Given the description of an element on the screen output the (x, y) to click on. 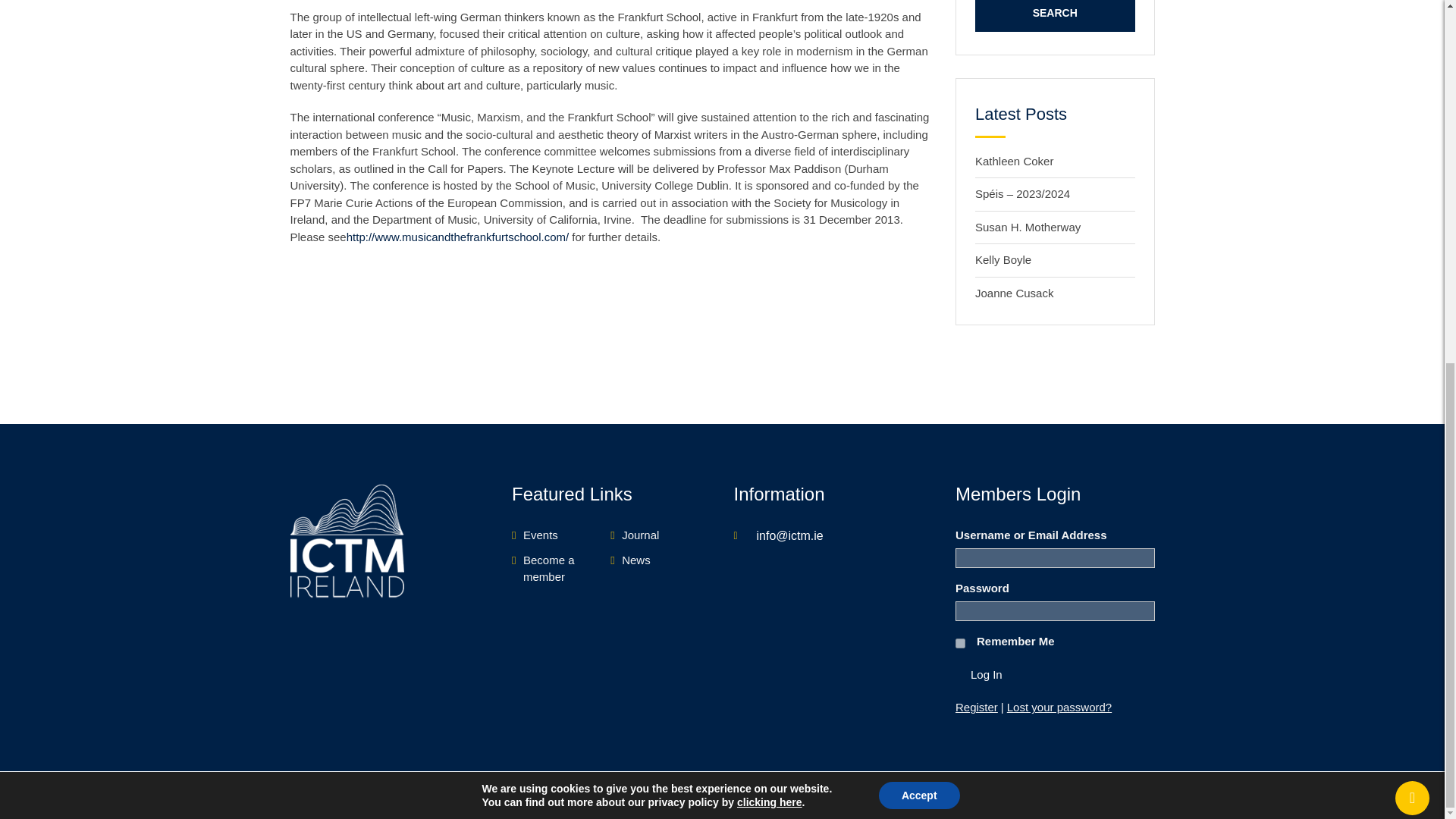
forever (960, 643)
Log In (986, 674)
Search (1055, 15)
Search (1055, 15)
